Given the description of an element on the screen output the (x, y) to click on. 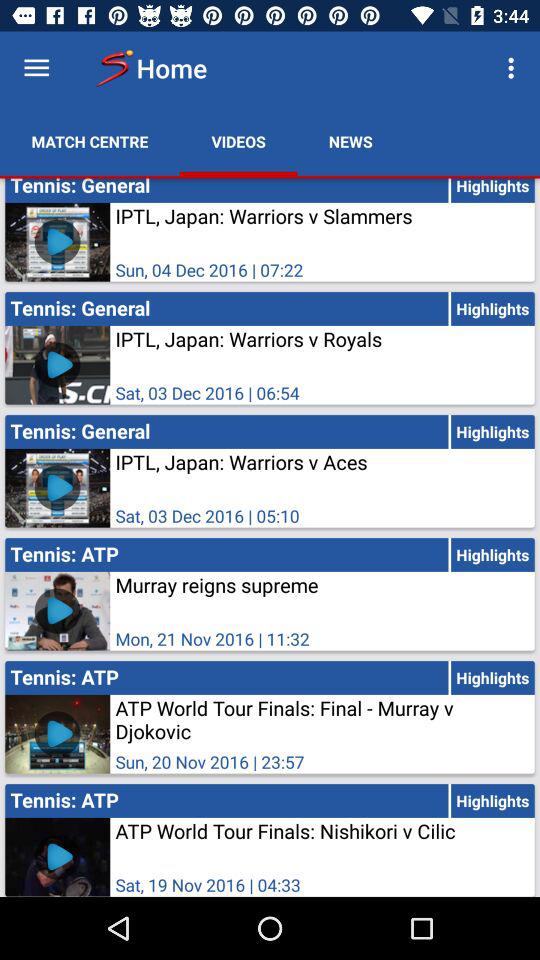
launch the icon next to match centre item (238, 141)
